Given the description of an element on the screen output the (x, y) to click on. 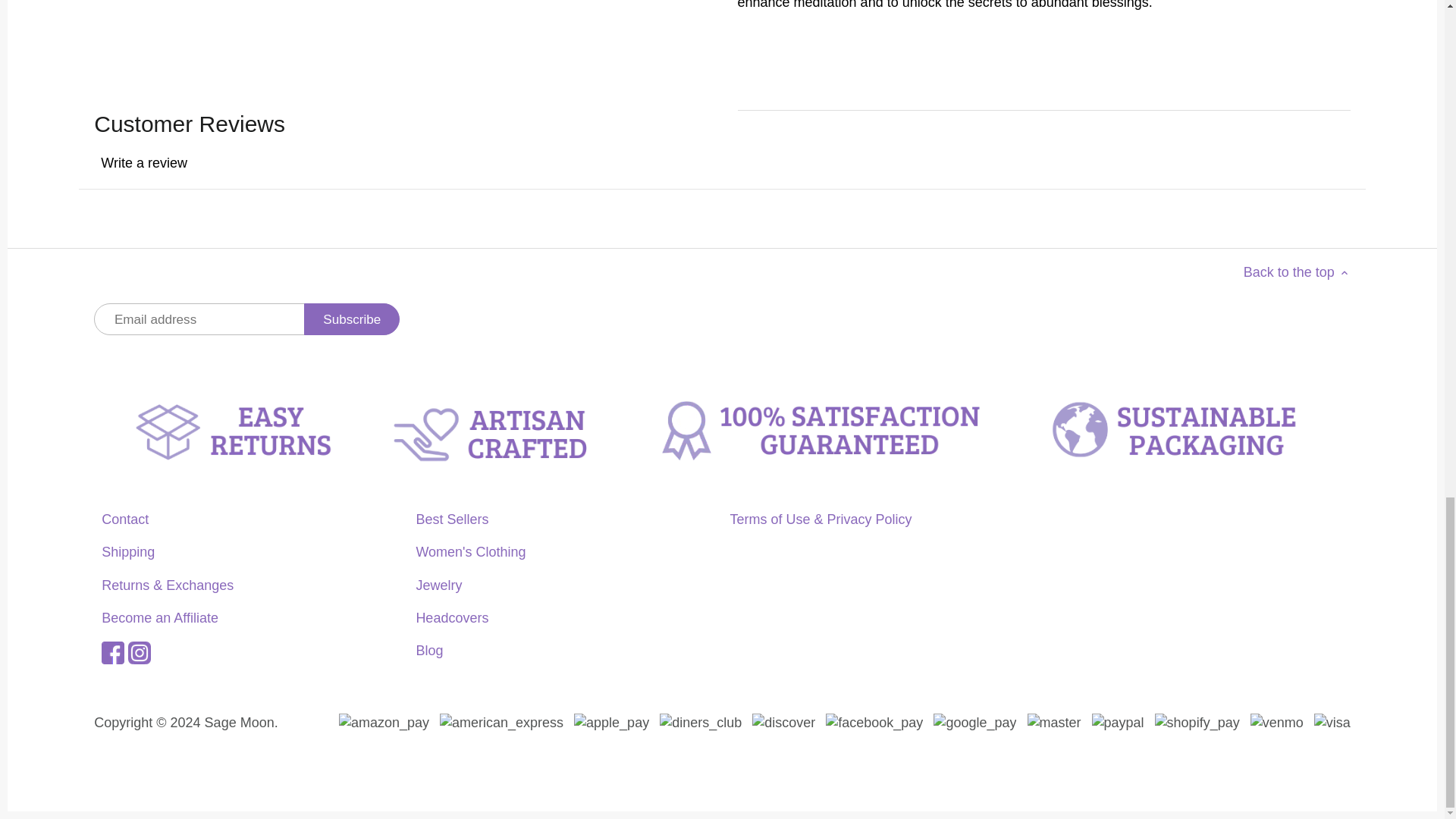
Become an affiliate! (159, 617)
follow me on facebook (112, 650)
Jewelry (437, 585)
Subscribe (351, 318)
Shipping (127, 551)
Blog (428, 650)
follow me on instagram (139, 650)
Headcovers (450, 617)
Best Sellers (450, 519)
Women's Clothing (469, 551)
